Given the description of an element on the screen output the (x, y) to click on. 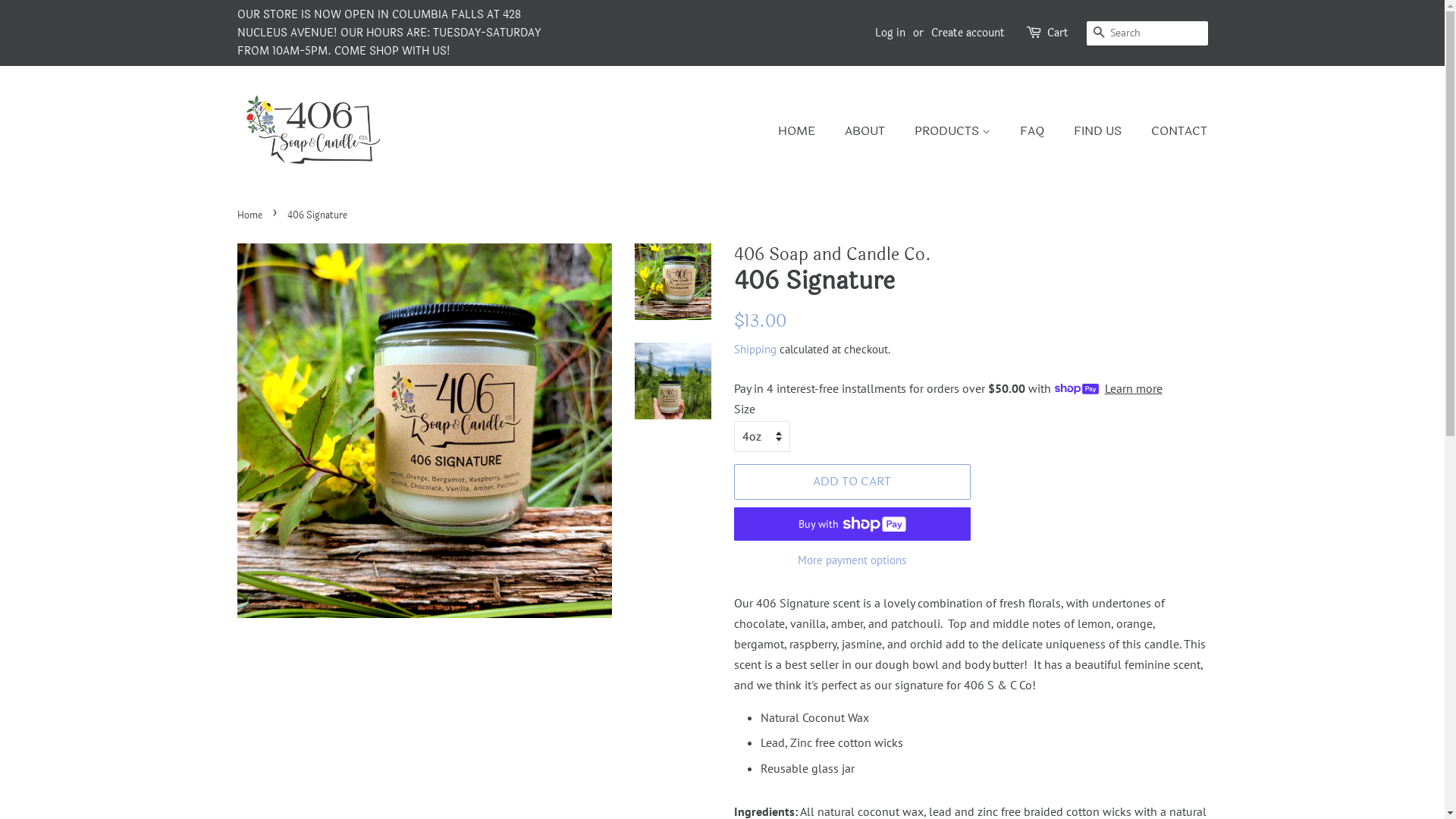
Home Element type: text (250, 215)
HOME Element type: text (804, 130)
CONTACT Element type: text (1173, 130)
Create account Element type: text (967, 32)
Log in Element type: text (890, 32)
More payment options Element type: text (852, 559)
FIND US Element type: text (1099, 130)
PRODUCTS Element type: text (954, 130)
ADD TO CART Element type: text (852, 481)
SEARCH Element type: text (1097, 33)
FAQ Element type: text (1033, 130)
ABOUT Element type: text (866, 130)
Shipping Element type: text (755, 349)
Cart Element type: text (1056, 33)
